Given the description of an element on the screen output the (x, y) to click on. 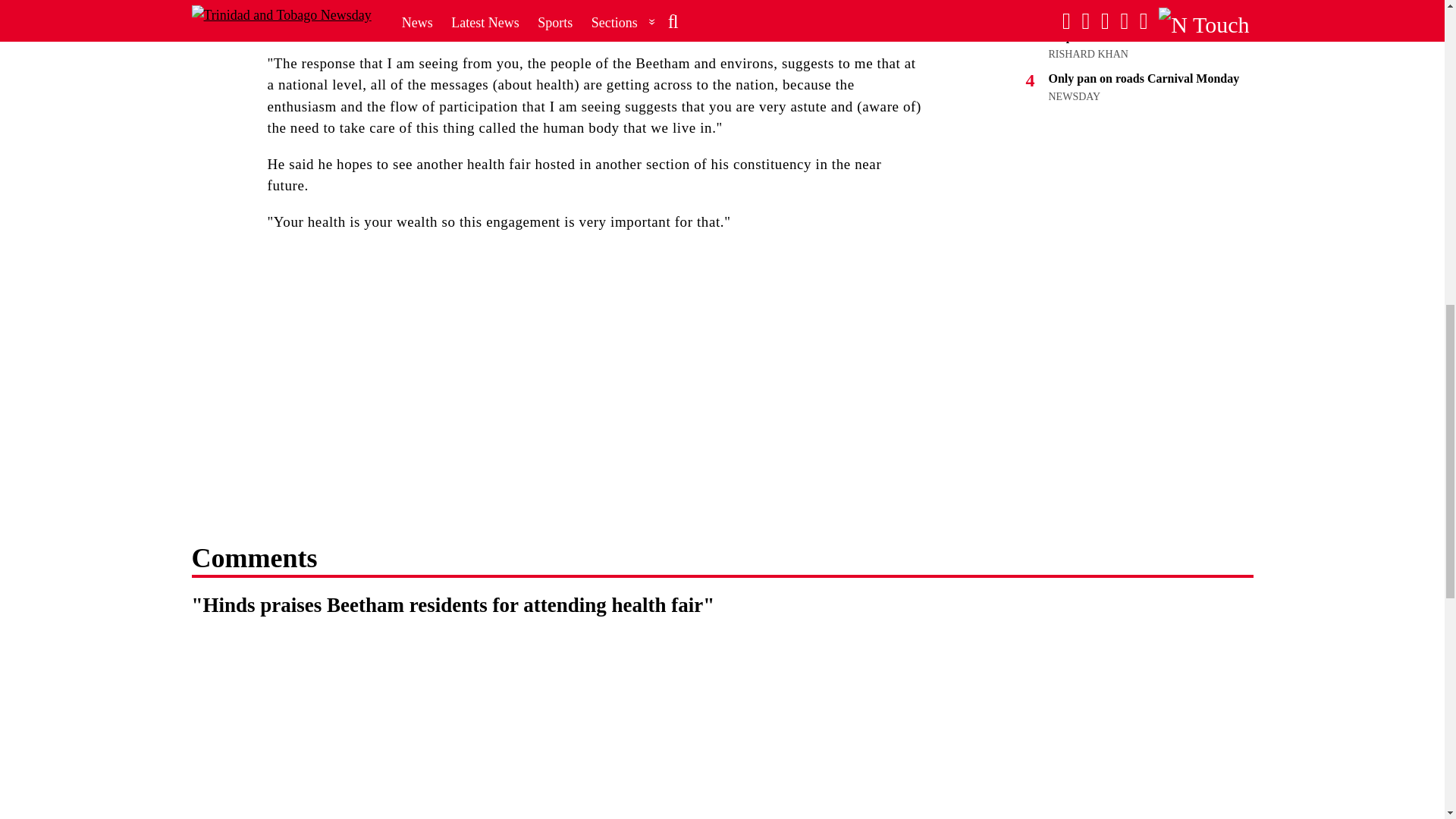
NEWSDAY (1074, 96)
GREGORY MC BURNIE (1103, 1)
Beaten San Fernando man dies at hospital (1135, 28)
Only pan on roads Carnival Monday (1143, 78)
RISHARD KHAN (1087, 53)
